Given the description of an element on the screen output the (x, y) to click on. 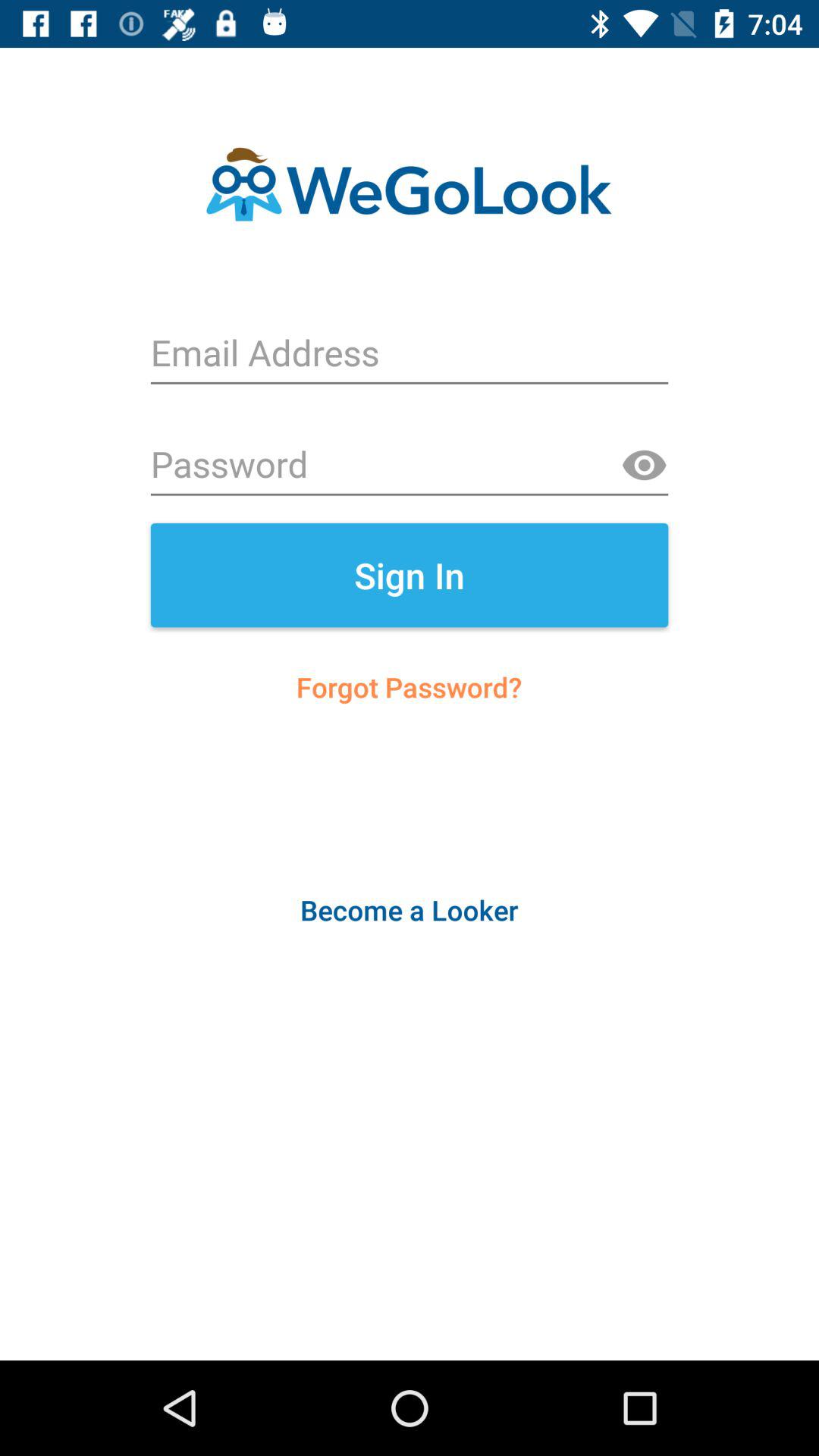
scroll until sign in (409, 575)
